Given the description of an element on the screen output the (x, y) to click on. 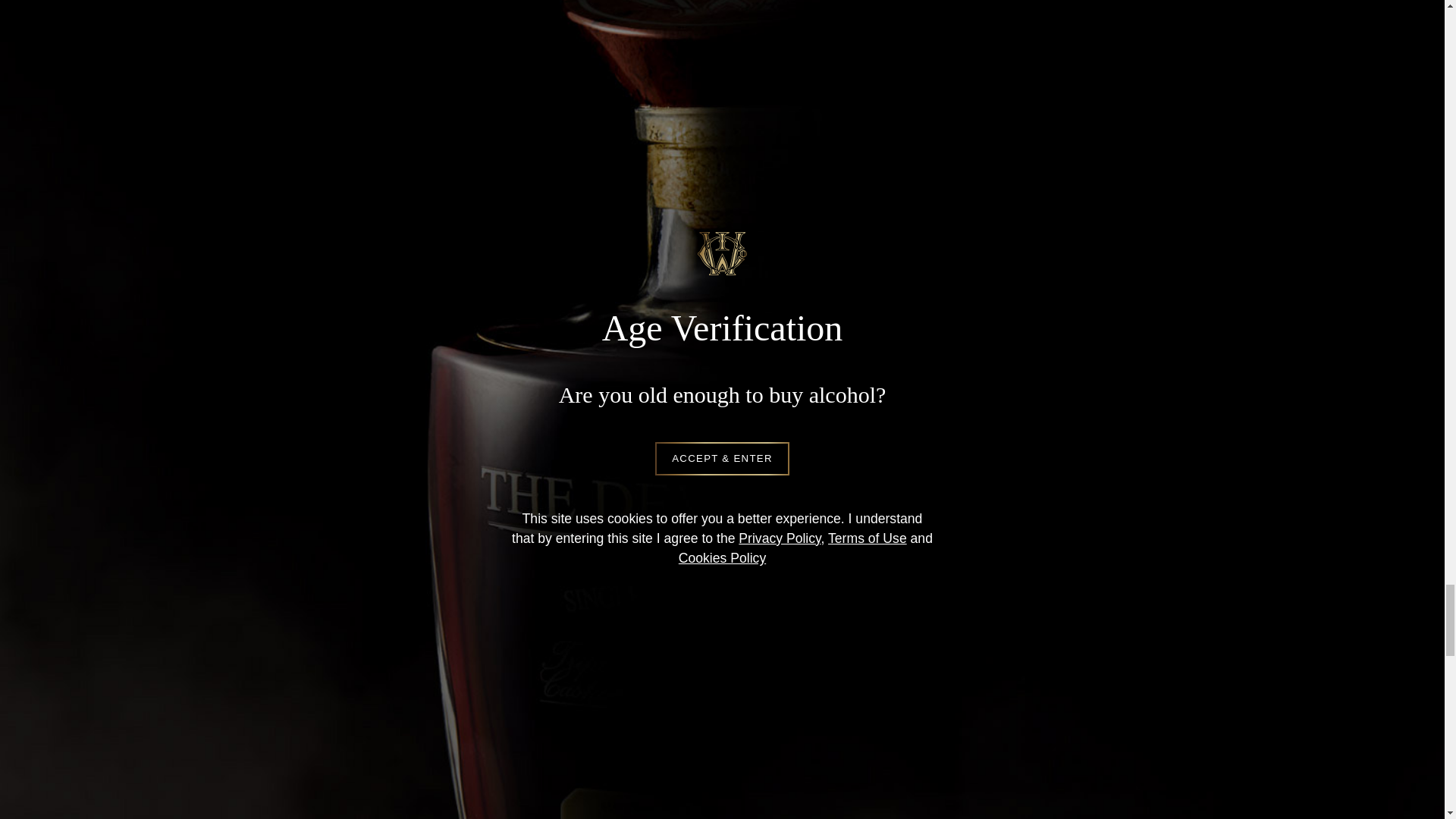
Privacy Policy (627, 178)
